Given the description of an element on the screen output the (x, y) to click on. 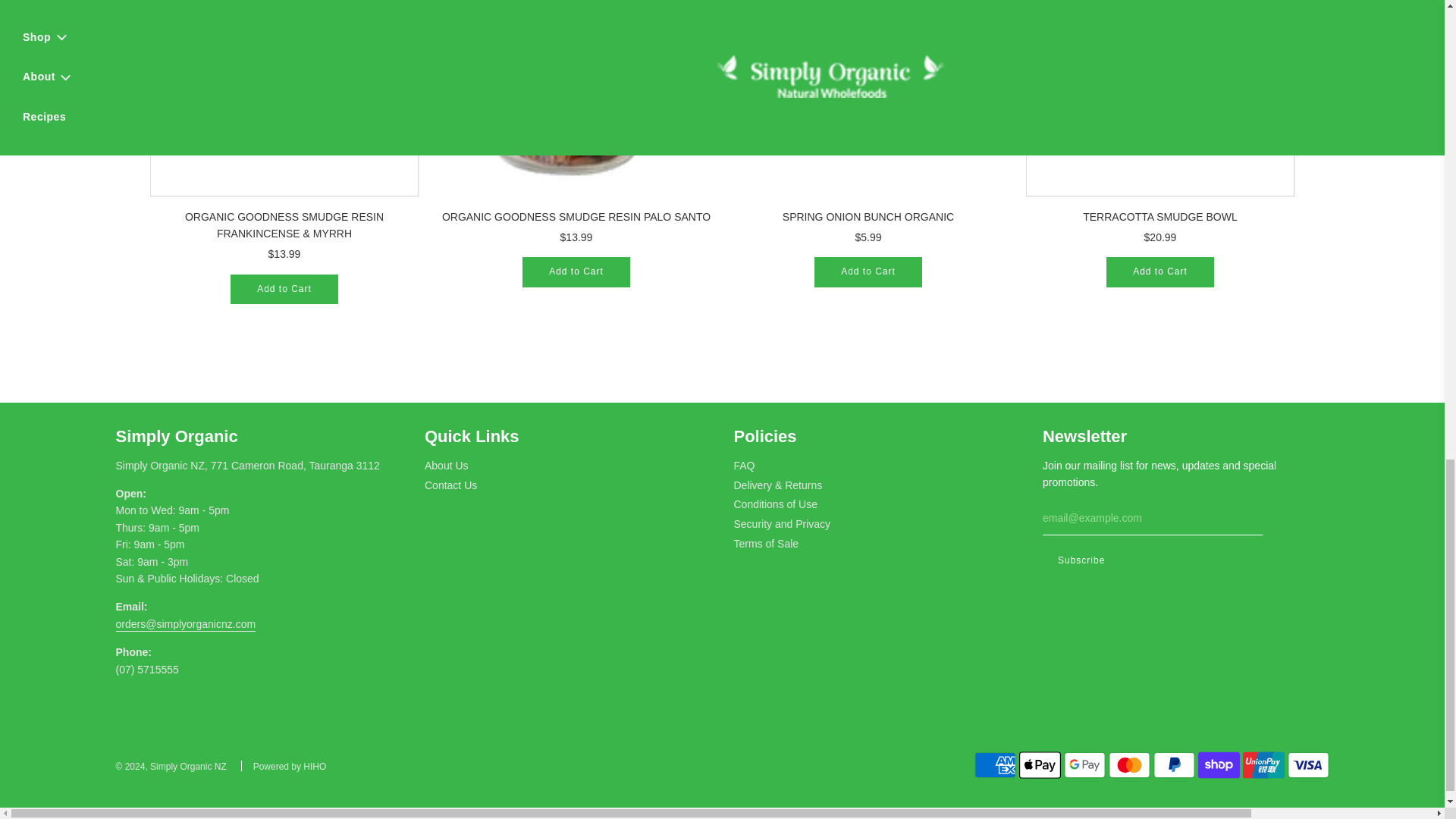
Visa (1308, 765)
Apple Pay (1040, 765)
Subscribe (1080, 560)
American Express (995, 765)
ORGANIC GOODNESS SMUDGE RESIN PALO SANTO (575, 98)
Union Pay (1263, 765)
TERRACOTTA SMUDGE BOWL (1159, 98)
Mastercard (1129, 765)
Shop Pay (1219, 765)
Google Pay (1084, 765)
